Given the description of an element on the screen output the (x, y) to click on. 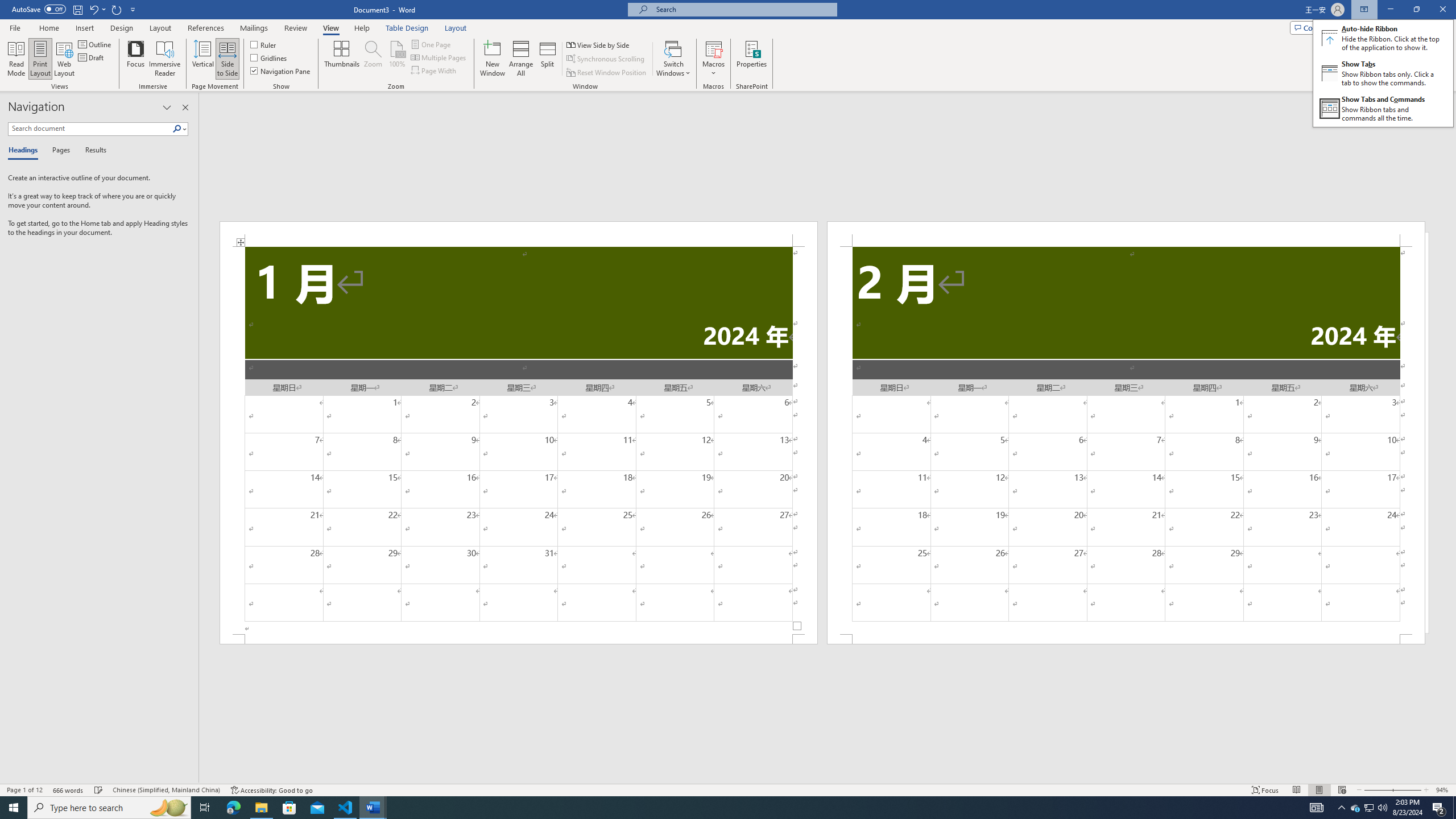
Review (295, 28)
Page Number Page 1 of 12 (24, 790)
Zoom In (1407, 790)
Start (13, 807)
Results (91, 150)
Macros (713, 58)
Accessibility Checker Accessibility: Good to go (271, 790)
Properties (751, 58)
File Tab (15, 27)
Outline (95, 44)
Microsoft Store (289, 807)
Language Chinese (Simplified, Mainland China) (165, 790)
Reset Window Position (606, 72)
